Given the description of an element on the screen output the (x, y) to click on. 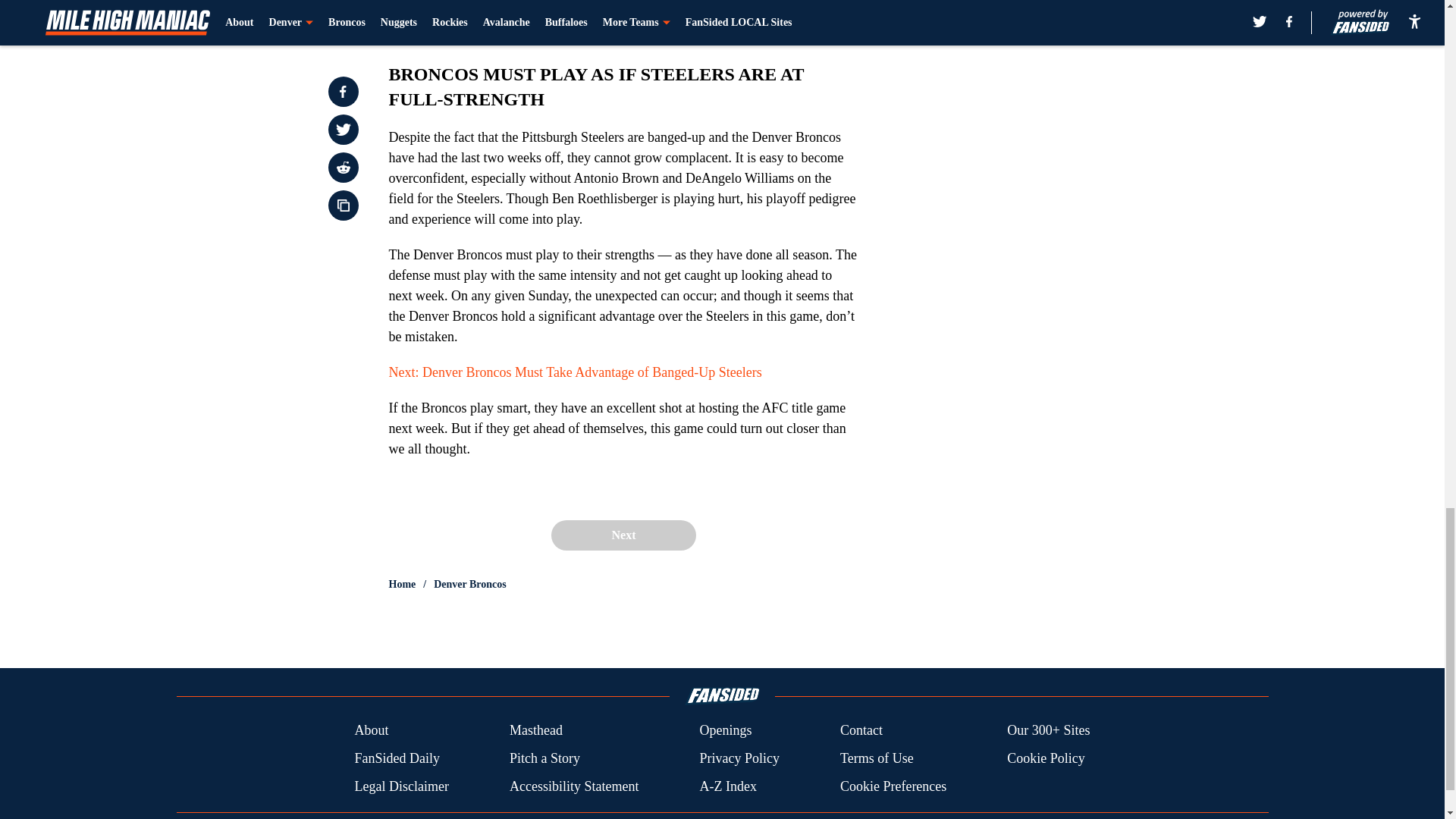
Home (401, 584)
Masthead (535, 730)
Openings (724, 730)
Denver Broncos (469, 584)
Next (622, 535)
About (370, 730)
